Given the description of an element on the screen output the (x, y) to click on. 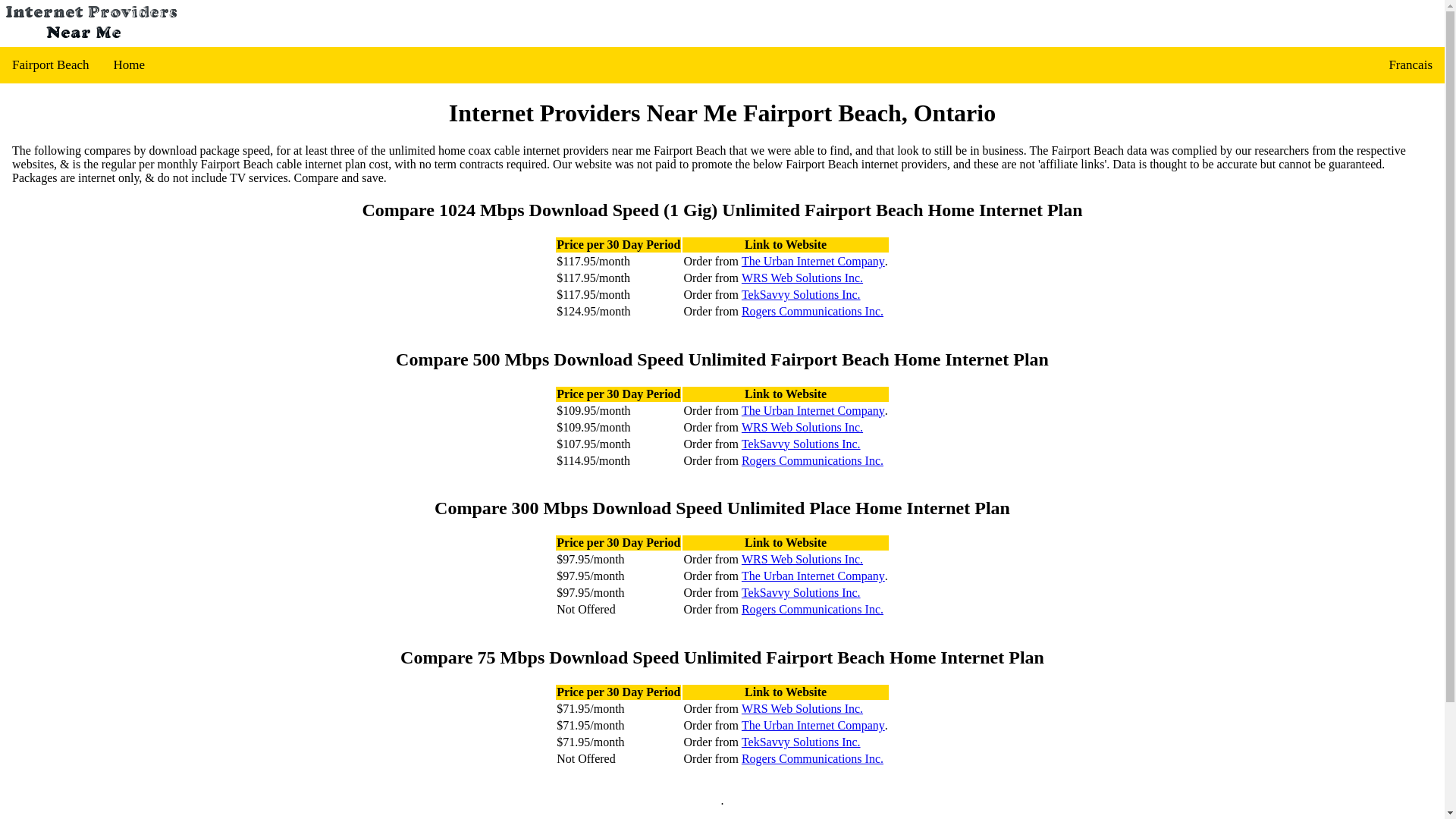
Rogers Communications Inc. (812, 459)
Rogers Communications Inc. (812, 609)
WRS Web Solutions Inc. (802, 278)
WRS Web Solutions Inc. (802, 427)
The Urban Internet Company (813, 261)
TekSavvy Solutions Inc. (800, 742)
WRS Web Solutions Inc. (802, 708)
Rogers Communications Inc. (812, 758)
The Urban Internet Company (813, 576)
Rogers Communications Inc. (812, 311)
